Given the description of an element on the screen output the (x, y) to click on. 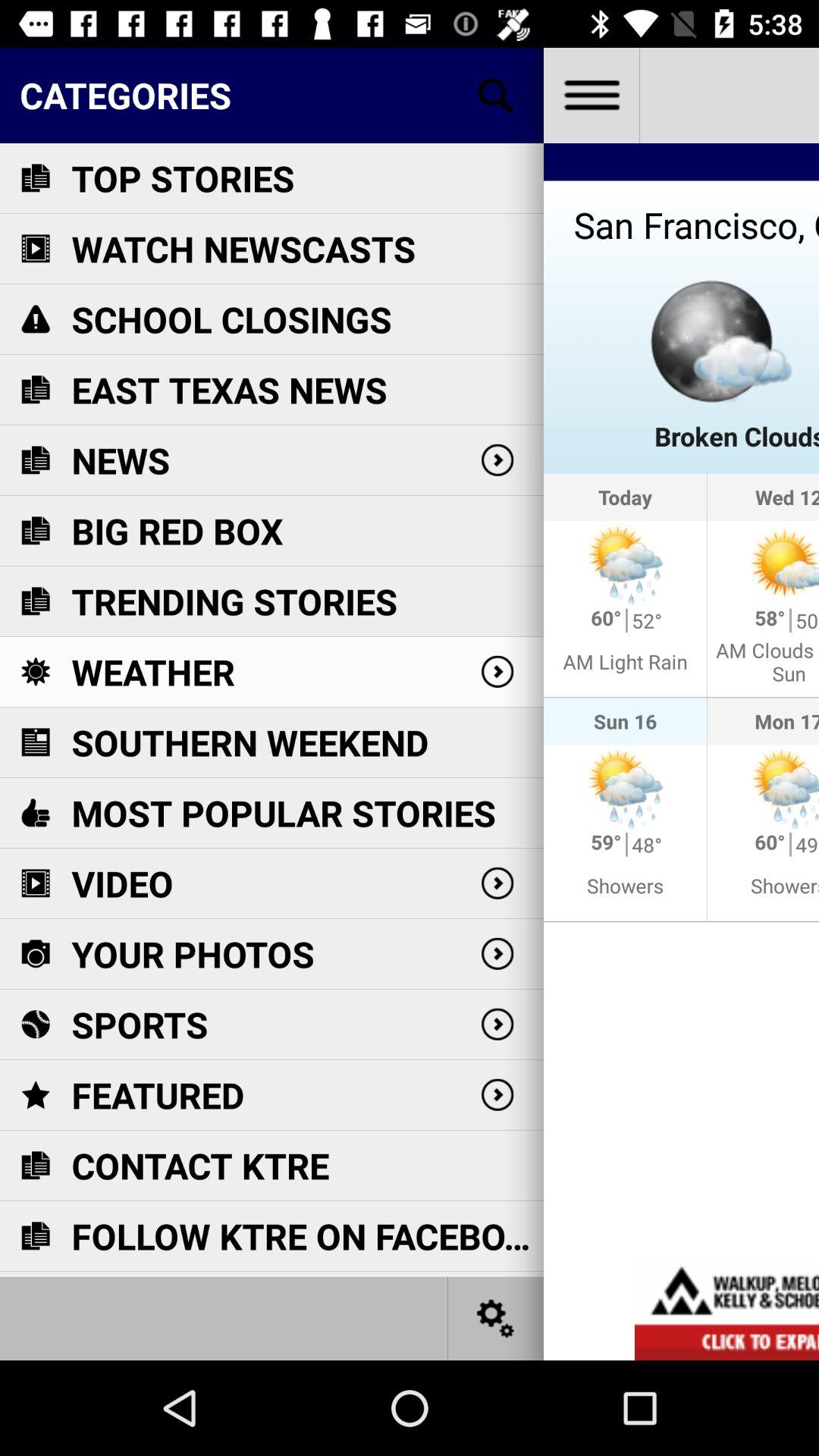
go to settings (495, 1318)
